Given the description of an element on the screen output the (x, y) to click on. 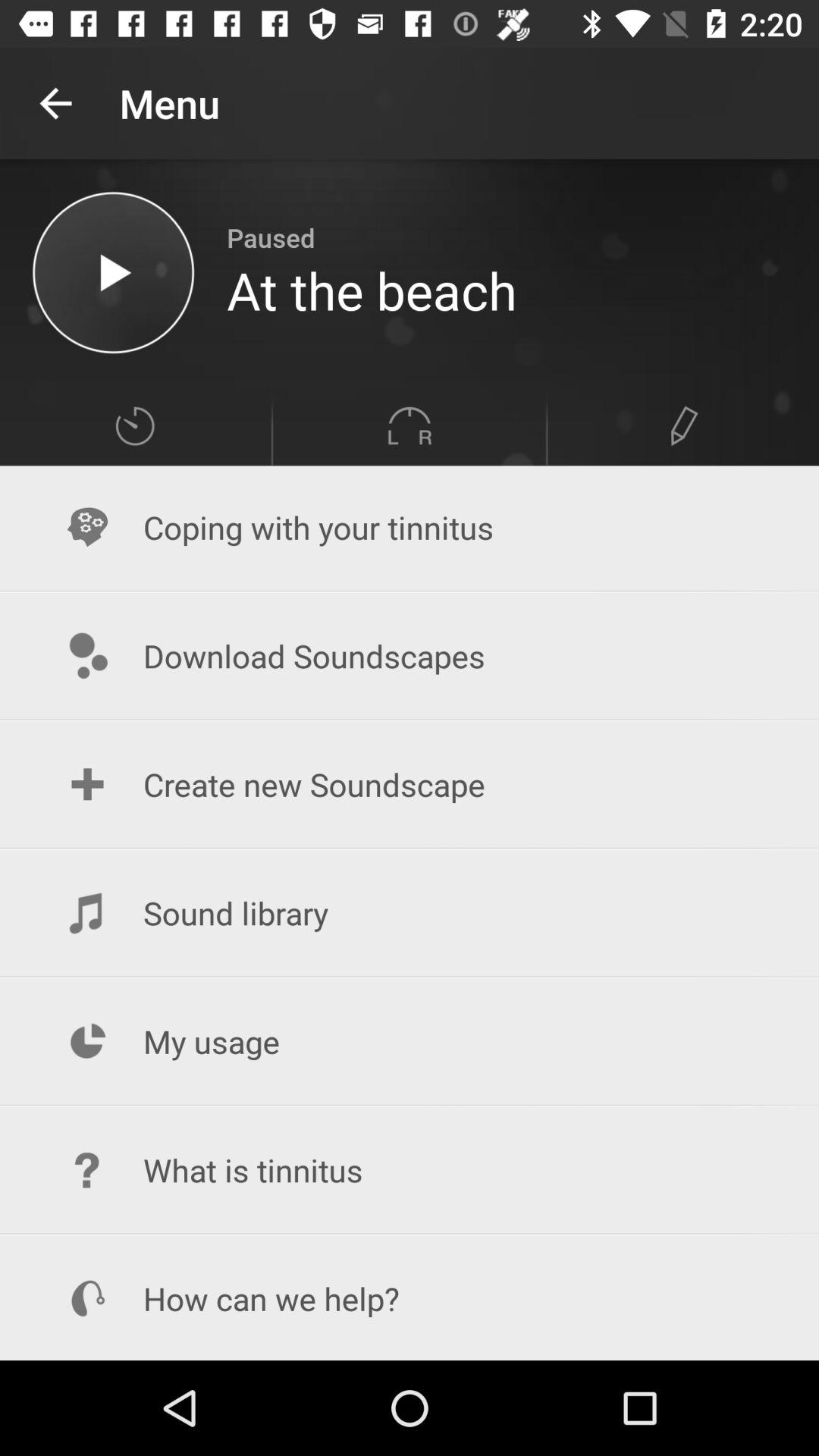
change speed (134, 425)
